Given the description of an element on the screen output the (x, y) to click on. 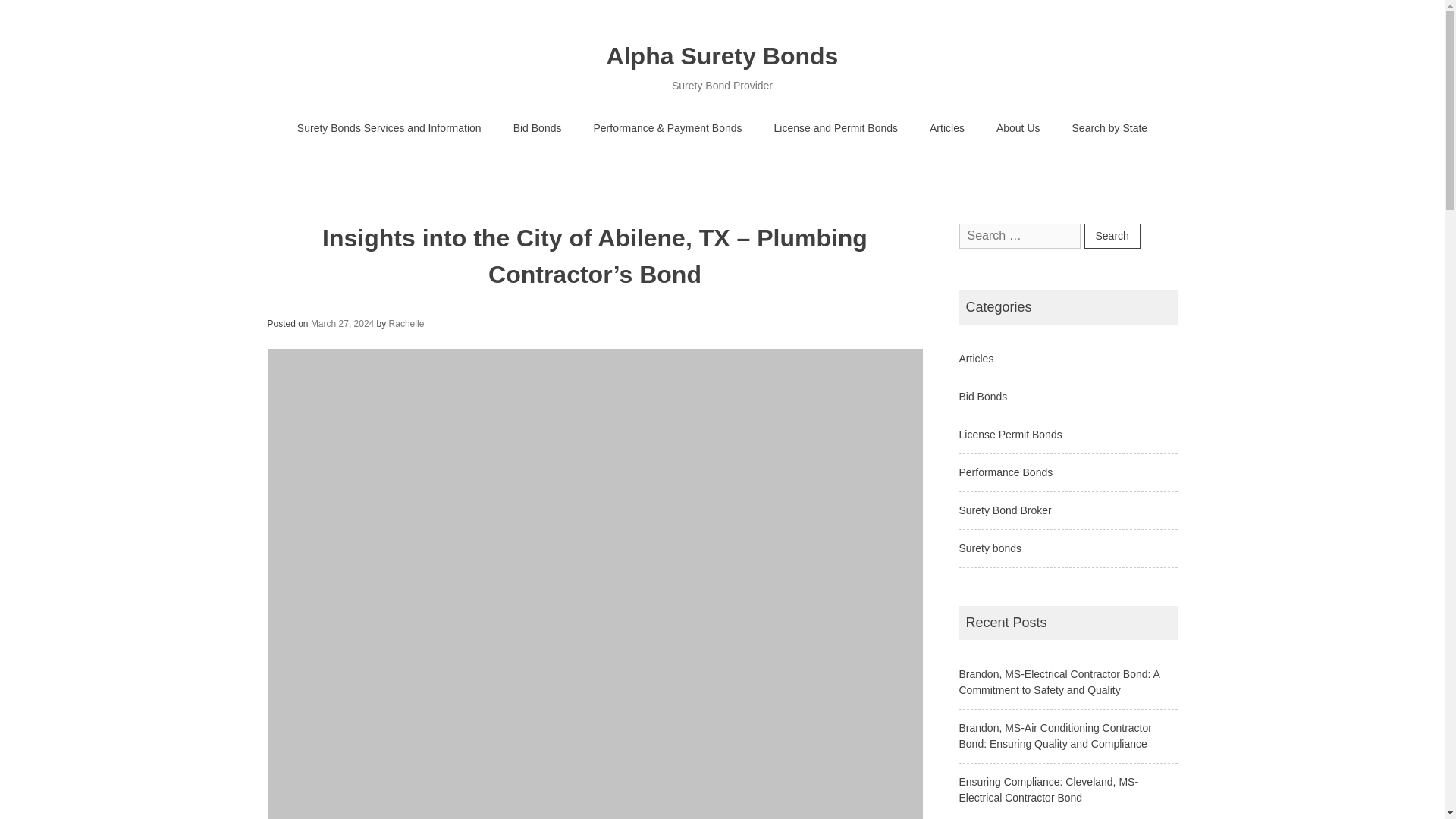
Bid Bonds (537, 128)
Alpha Surety Bonds (722, 55)
Search (1112, 235)
Search (1112, 235)
Surety Bonds Services and Information (389, 128)
License and Permit Bonds (836, 128)
